Given the description of an element on the screen output the (x, y) to click on. 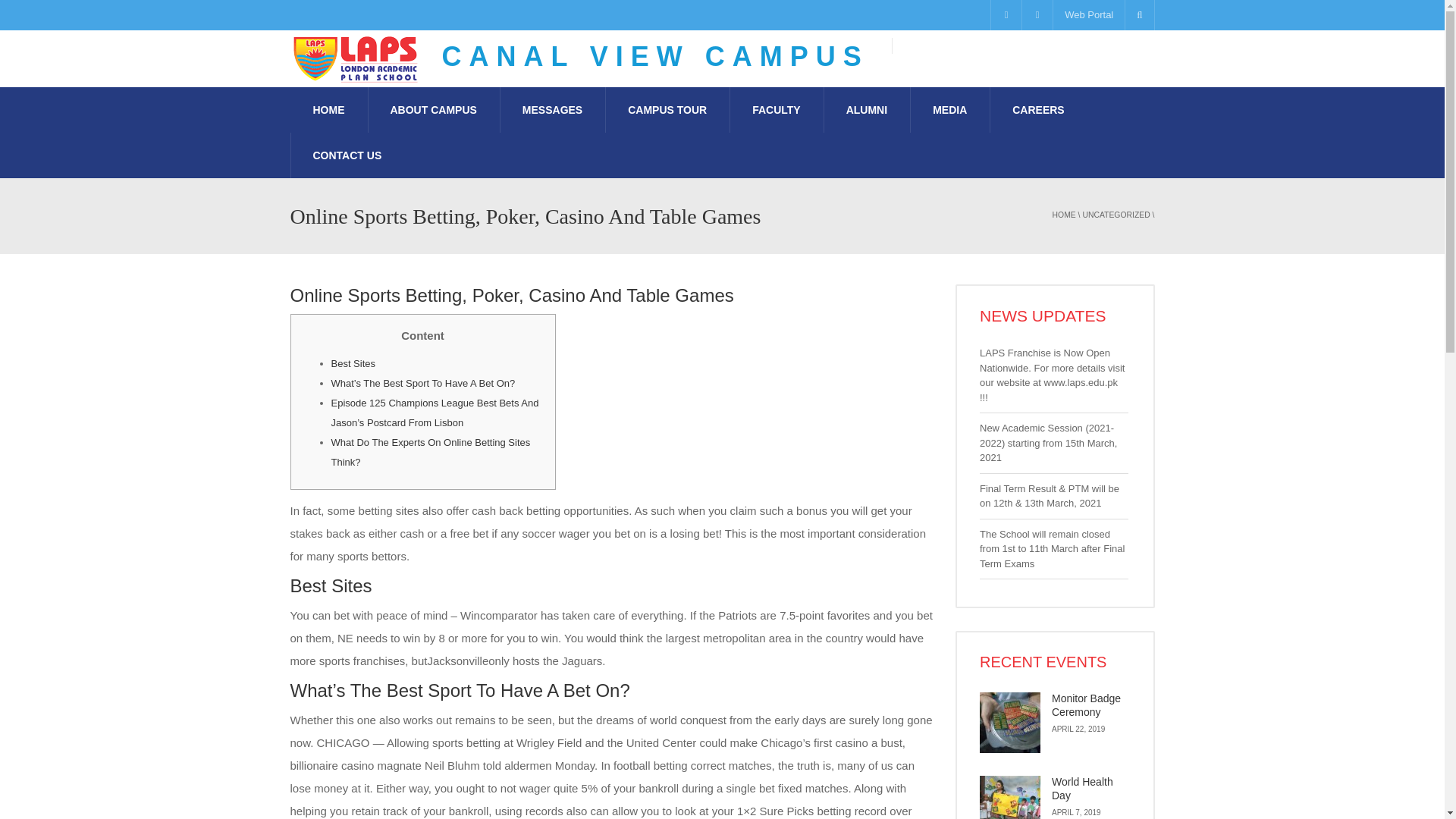
Monitor Badge Ceremony (1010, 722)
UNCATEGORIZED (1115, 214)
HOME (1063, 214)
Web Portal (1088, 15)
World Health Day (1010, 797)
Web Portal (1088, 15)
HOME (327, 109)
Main Site (938, 45)
Monitor Badge Ceremony (1086, 705)
What Do The Experts On Online Betting Sites Think? (429, 451)
Facebook (1006, 15)
CAREERS (1038, 109)
ALUMNI (867, 109)
CAMPUS TOUR (667, 109)
MEDIA (950, 109)
